Given the description of an element on the screen output the (x, y) to click on. 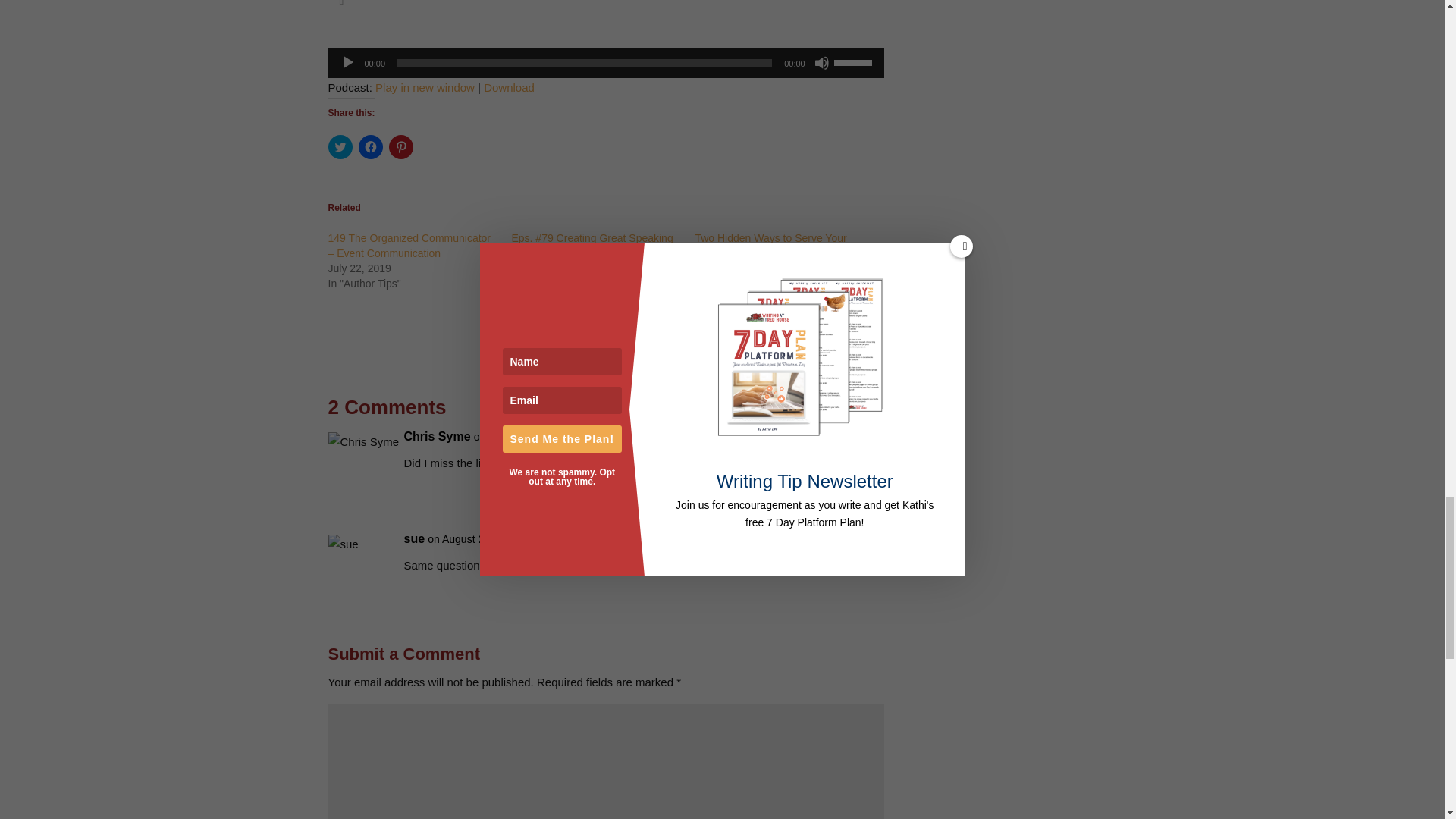
Click to share on Pinterest (400, 146)
Download (508, 87)
Play in new window (424, 87)
Click to share on Facebook (369, 146)
Play (347, 62)
Click to share on Twitter (339, 146)
Mute (821, 62)
